Given the description of an element on the screen output the (x, y) to click on. 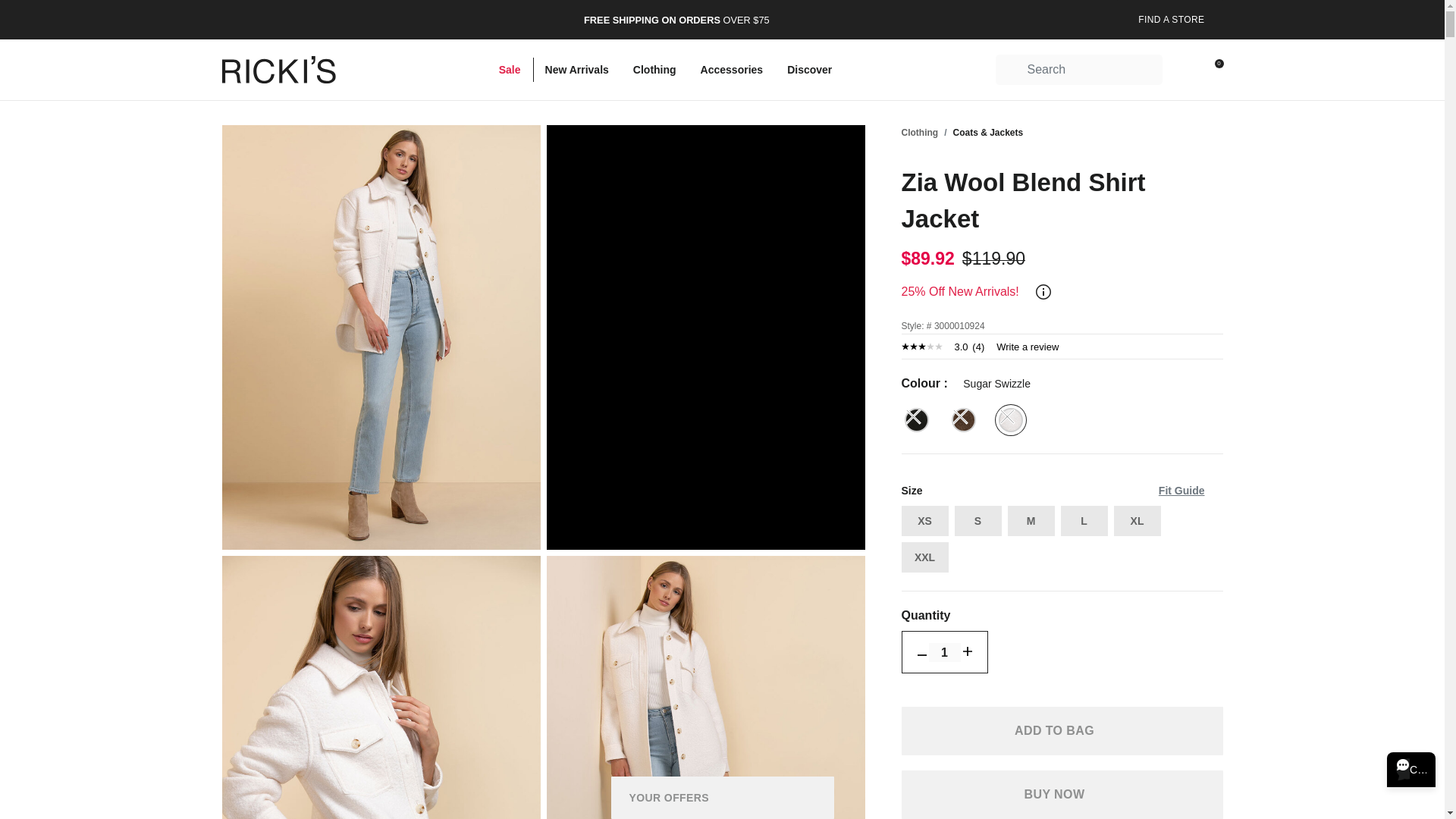
Ricki's Home (277, 69)
FIND A STORE (1169, 19)
1 (943, 651)
New Arrivals (576, 69)
Zia Wool Blend Shirt Jacket (705, 687)
Sale (509, 69)
Zia Wool Blend Shirt Jacket (380, 687)
